Given the description of an element on the screen output the (x, y) to click on. 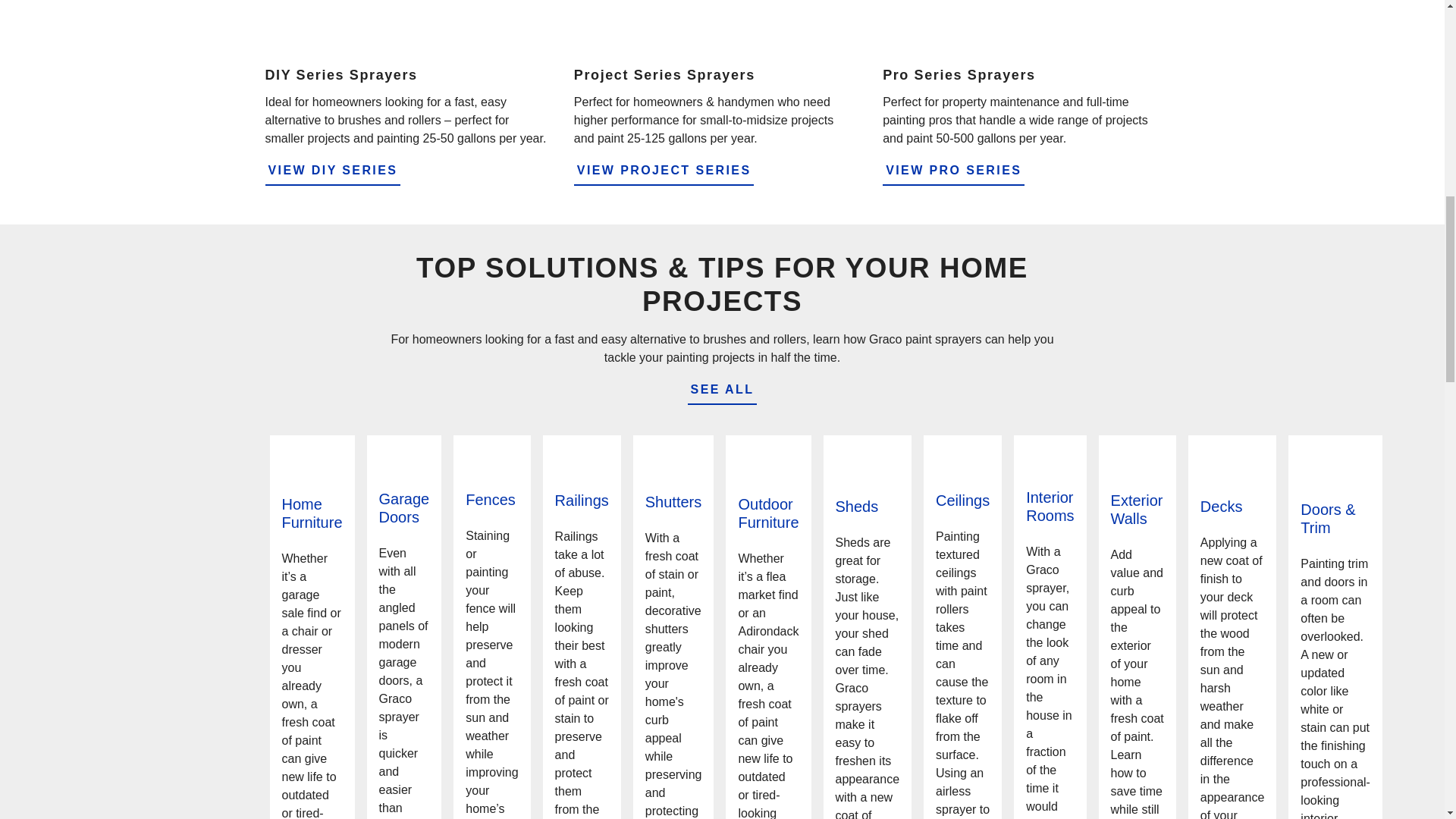
Interior Rooms (1050, 506)
Sheds (867, 506)
Exterior Walls (1136, 509)
Railings (581, 500)
Shutters (673, 502)
Ceilings (963, 500)
Outdoor Furniture (767, 513)
Fences (491, 499)
Home Furniture (312, 513)
Garage Doors (403, 507)
